Given the description of an element on the screen output the (x, y) to click on. 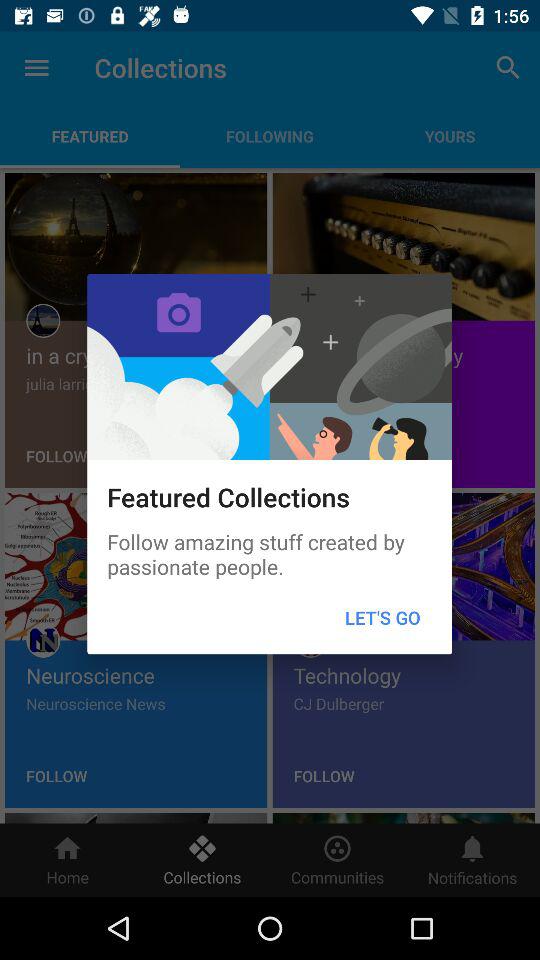
click let's go item (382, 617)
